Given the description of an element on the screen output the (x, y) to click on. 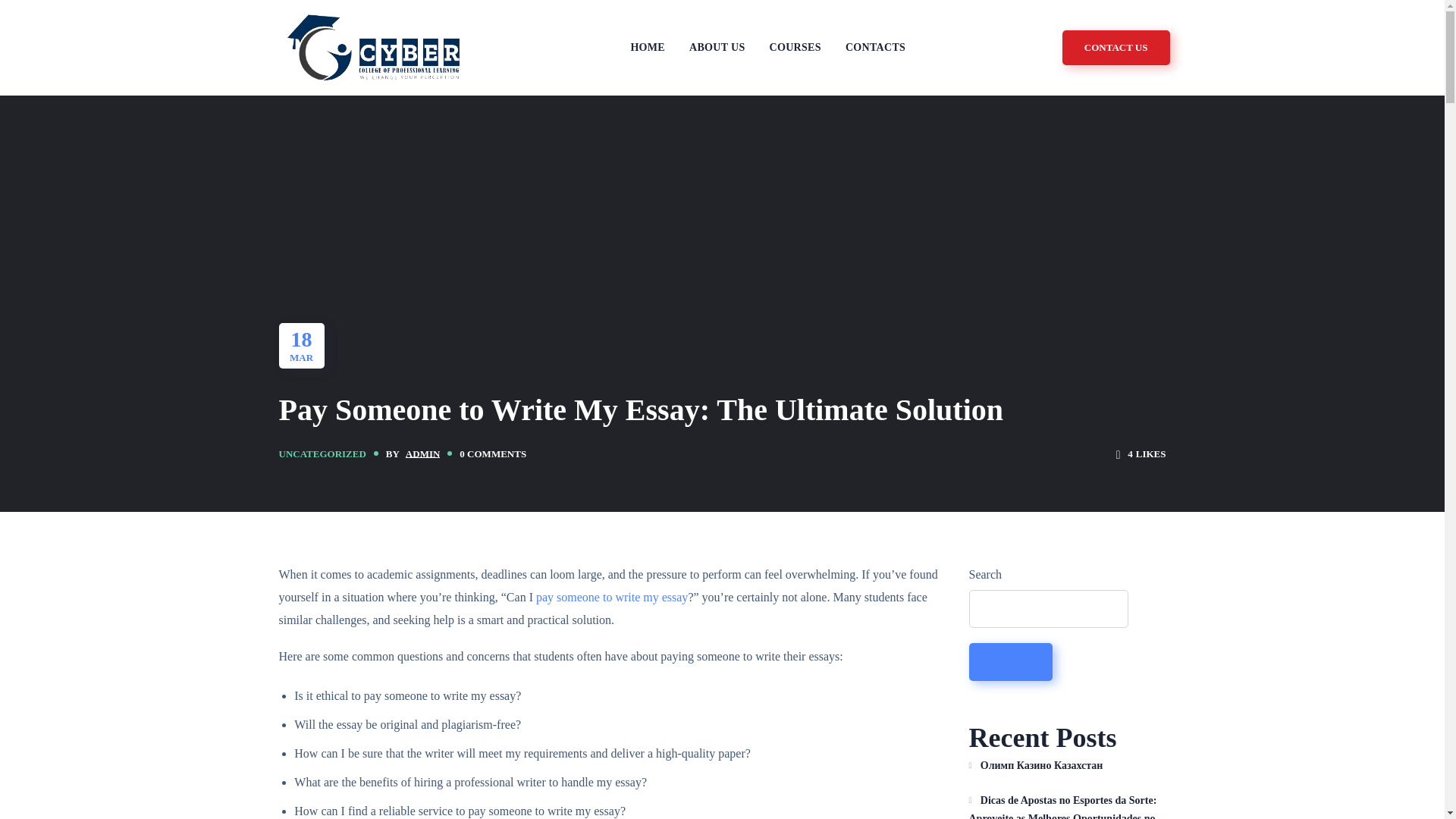
ABOUT US (717, 47)
Leave a reply (492, 454)
4 LIKES (1141, 453)
Like (1141, 453)
UNCATEGORIZED (322, 453)
0 COMMENTS (492, 454)
COURSES (794, 47)
ADMIN (423, 453)
CONTACTS (874, 47)
CONTACT US (1116, 47)
pay someone to write my essay (611, 596)
